Given the description of an element on the screen output the (x, y) to click on. 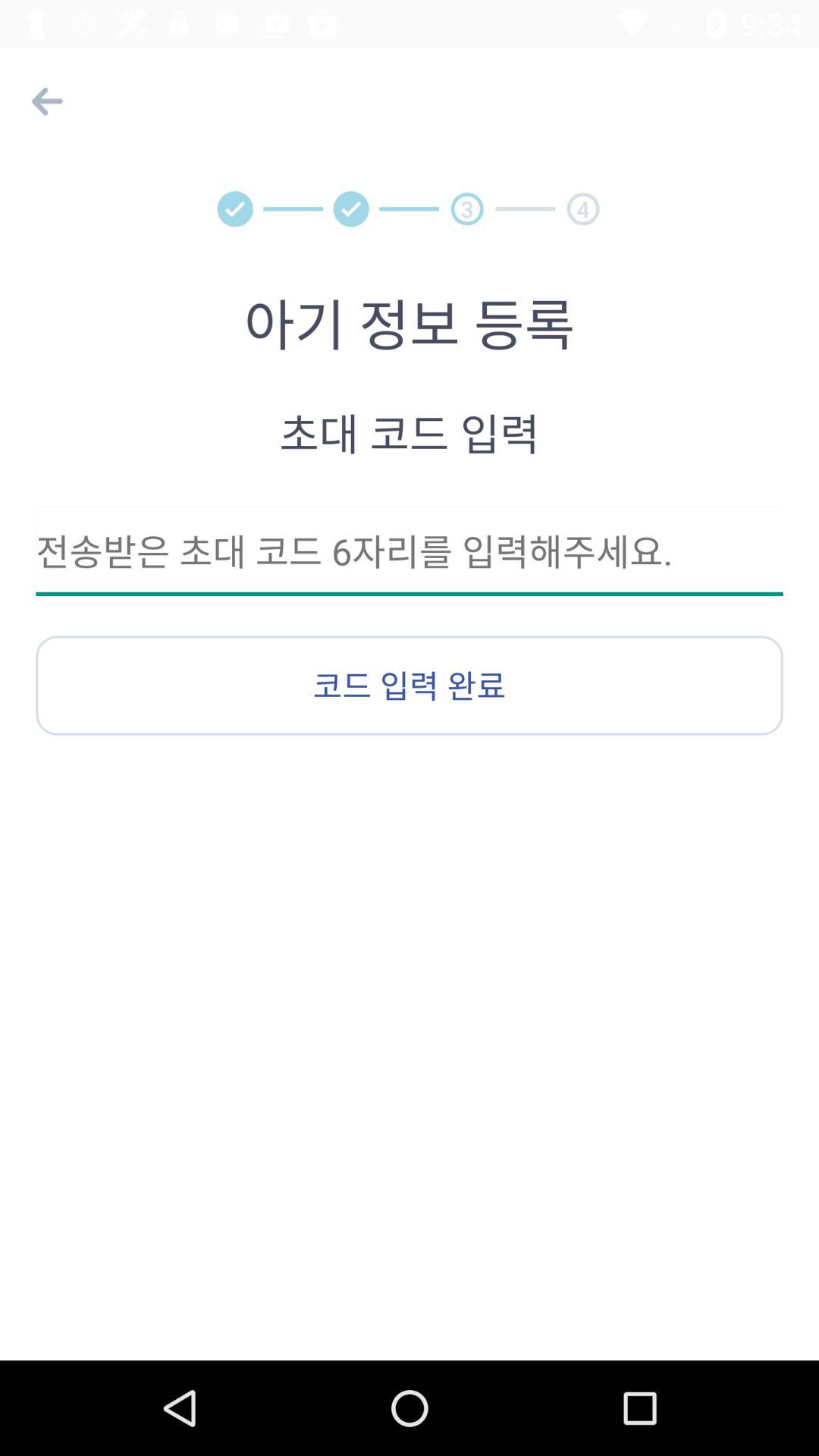
return to previous screen (43, 101)
